Given the description of an element on the screen output the (x, y) to click on. 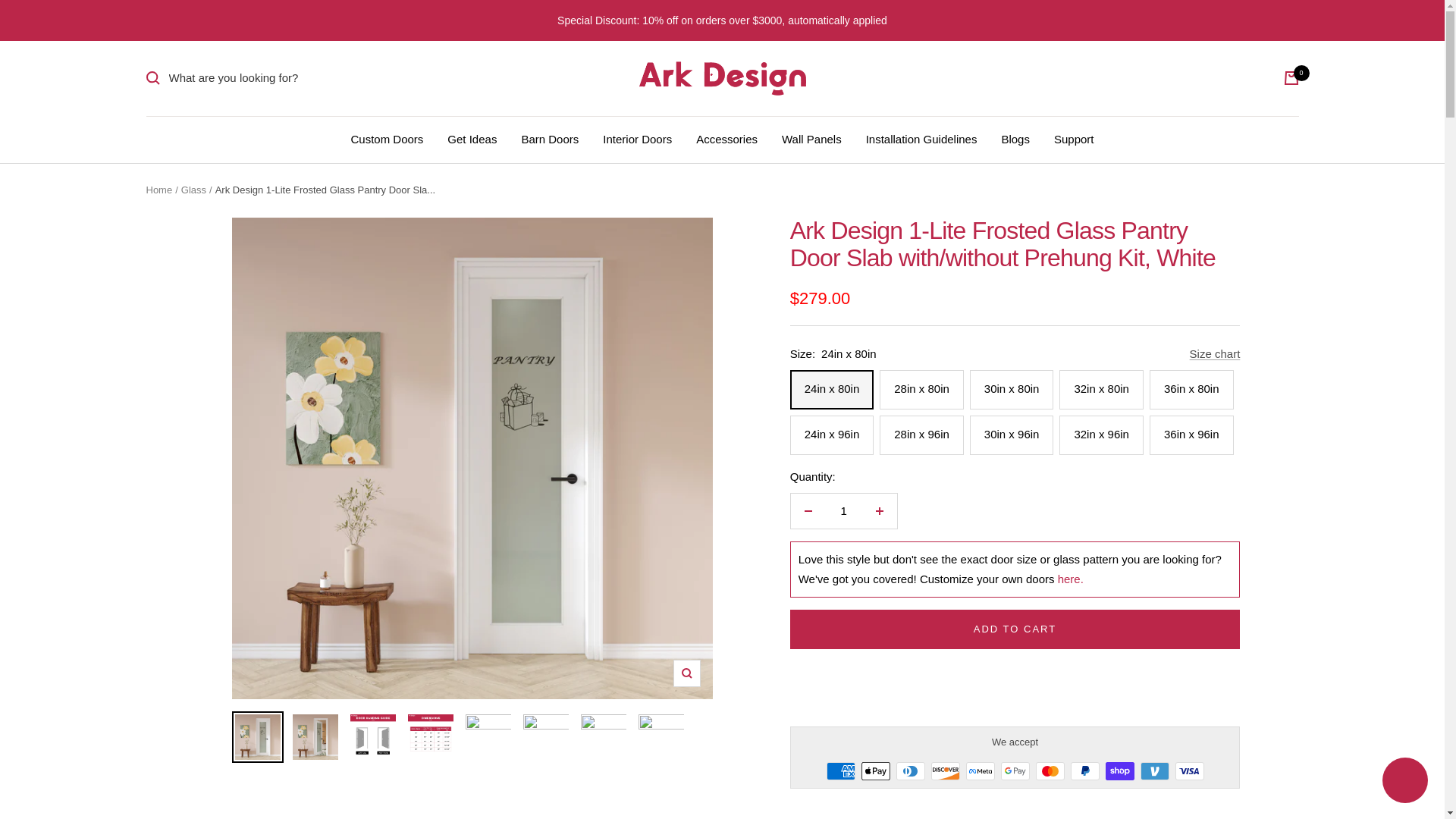
ARK design shop (722, 78)
Interior Doors (636, 138)
Glass (193, 189)
Accessories (726, 138)
Custom Doors (386, 138)
Zoom (686, 673)
1 (843, 510)
